Given the description of an element on the screen output the (x, y) to click on. 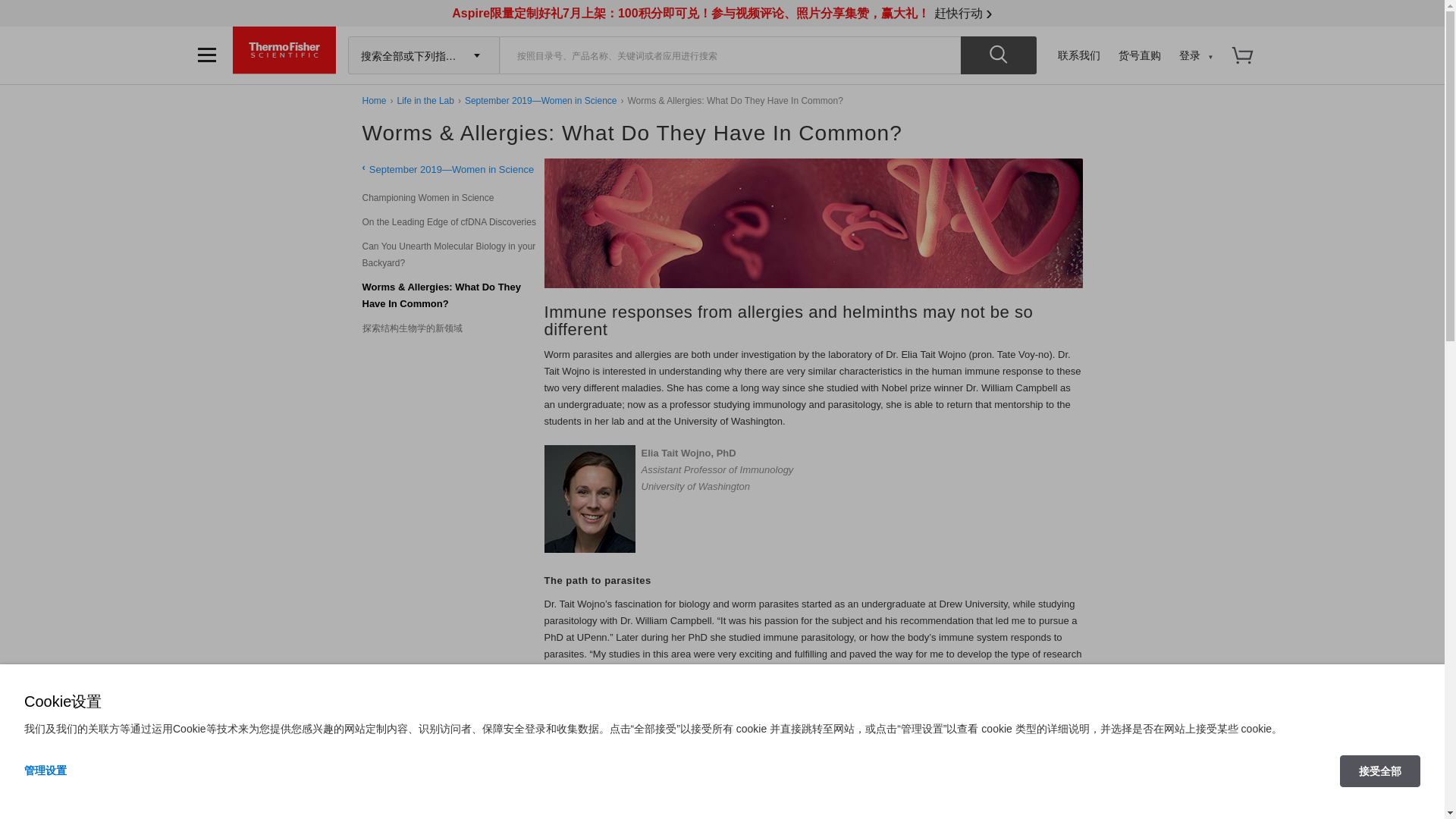
What do worms and allergies have in common? (813, 223)
